Given the description of an element on the screen output the (x, y) to click on. 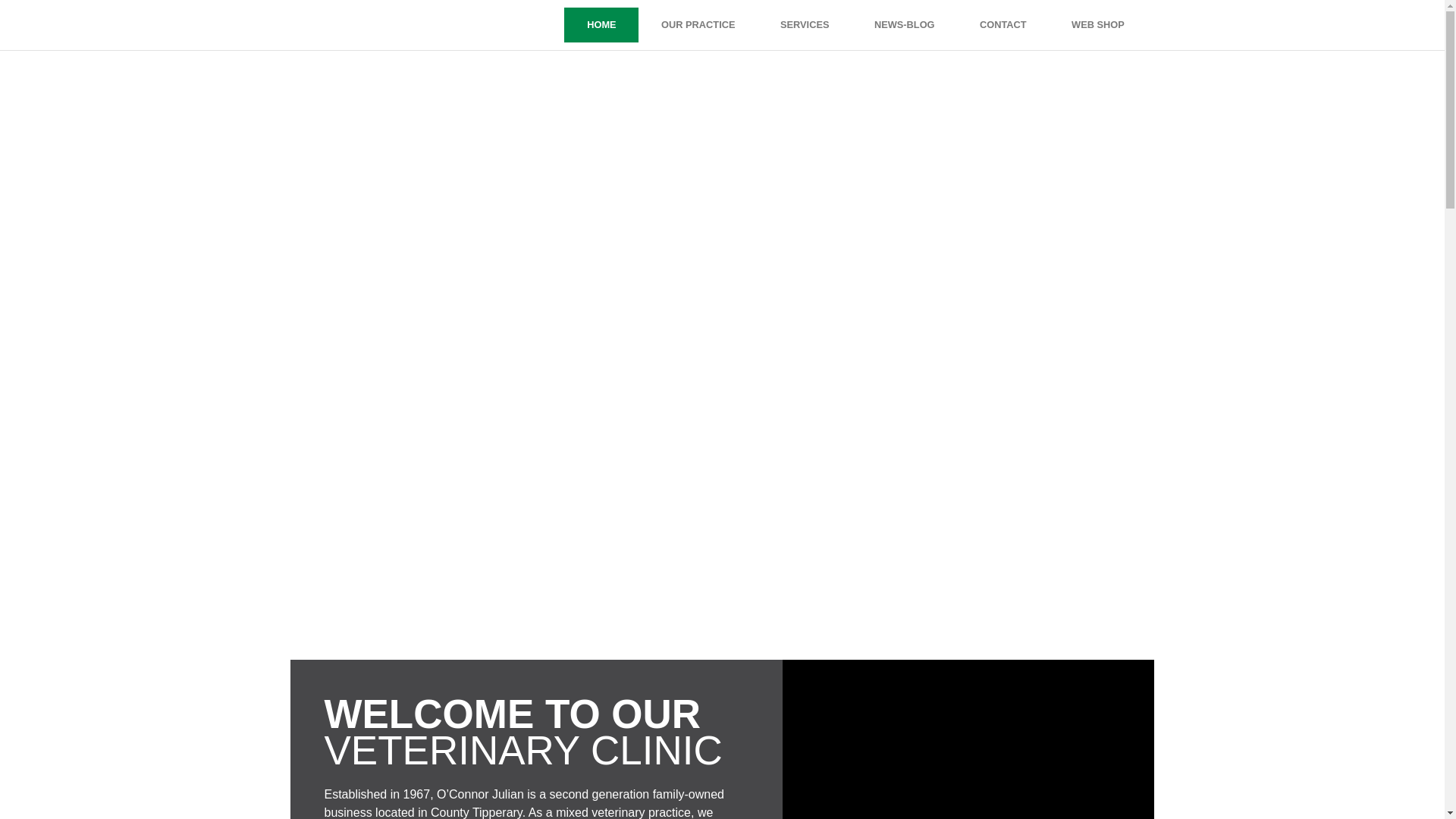
OUR PRACTICE (698, 24)
NEWS-BLOG (903, 24)
WEB SHOP (1097, 24)
HOME (601, 24)
CONTACT (1002, 24)
SERVICES (804, 24)
